Given the description of an element on the screen output the (x, y) to click on. 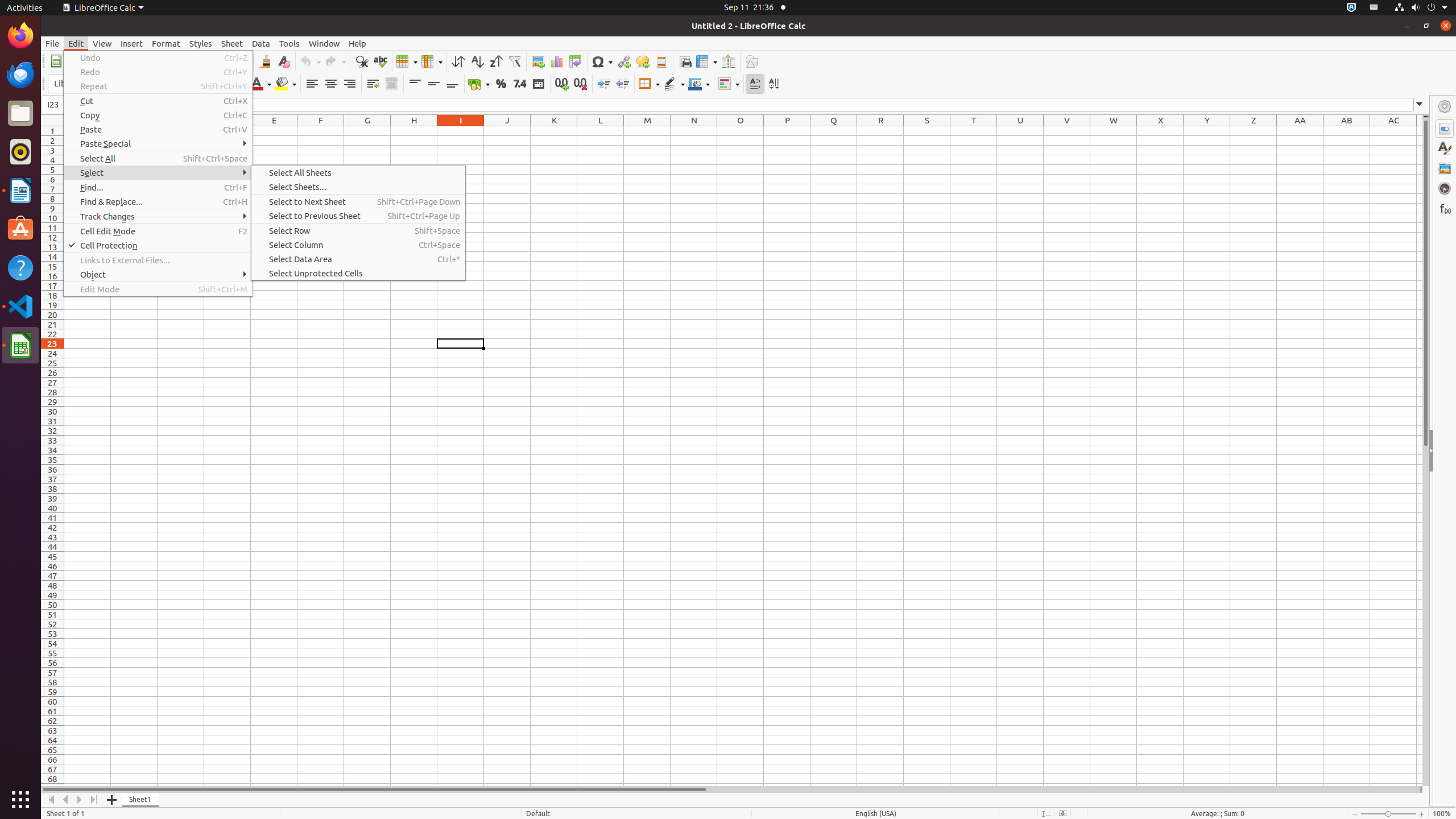
Apply Style Element type: text (41, 73)
H1 Element type: table-cell (413, 130)
Date Element type: push-button (537, 83)
Hyperlink Element type: toggle-button (623, 61)
P1 Element type: table-cell (786, 130)
